Given the description of an element on the screen output the (x, y) to click on. 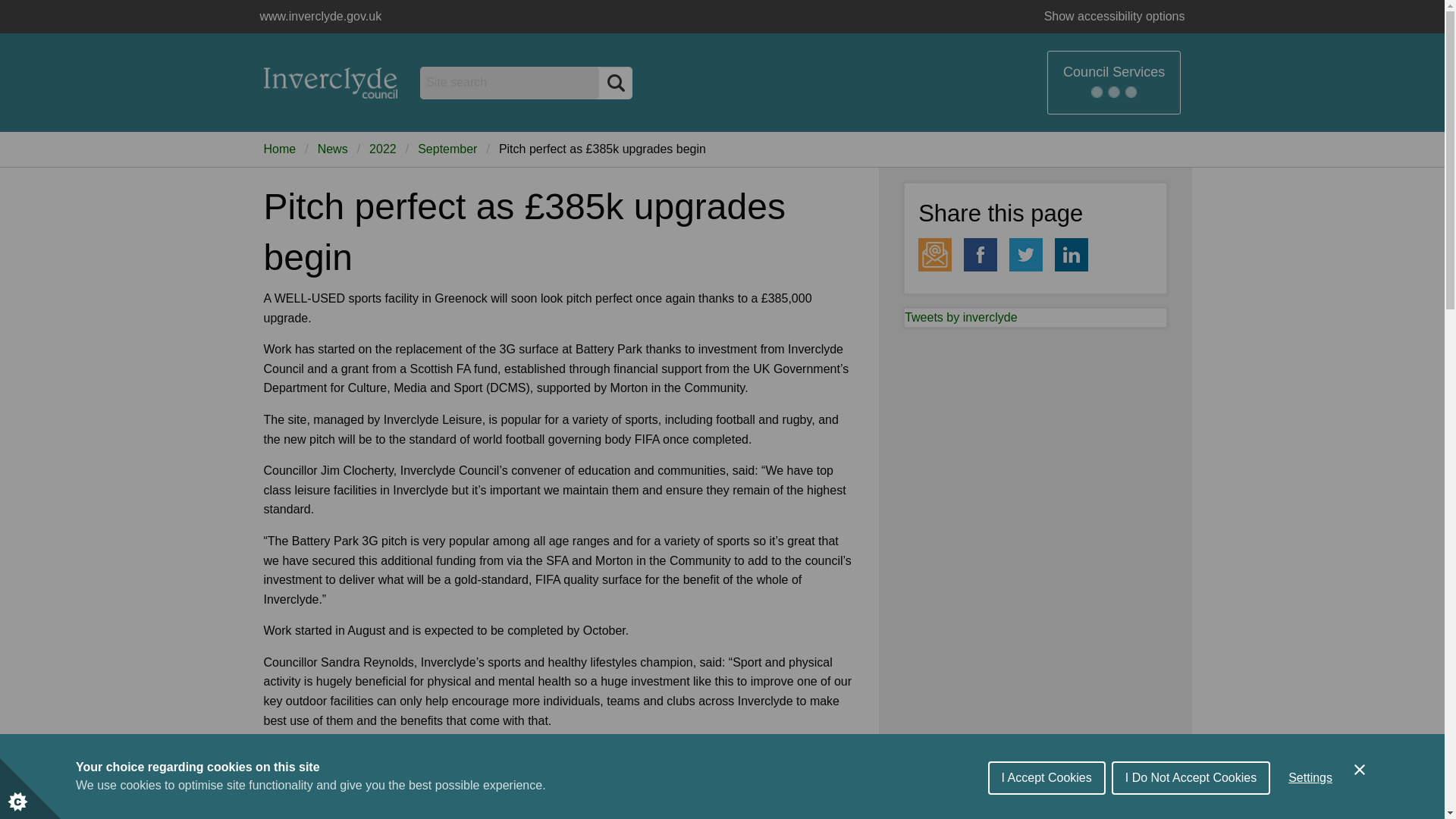
Tweets by inverclyde (960, 317)
Share this with LinkIn (1070, 254)
Settings (1309, 809)
Home (280, 148)
Share on LinkedIn (1070, 254)
Submit search (614, 82)
2022 (382, 148)
Email (935, 254)
Share this with email (935, 254)
www.inverclyde.gov.uk (330, 82)
Share this with facebook (980, 254)
Share on Facebook (980, 254)
I Do Not Accept Cookies (1190, 815)
Share on Twitter (1025, 254)
Show accessibility options (1114, 16)
